Given the description of an element on the screen output the (x, y) to click on. 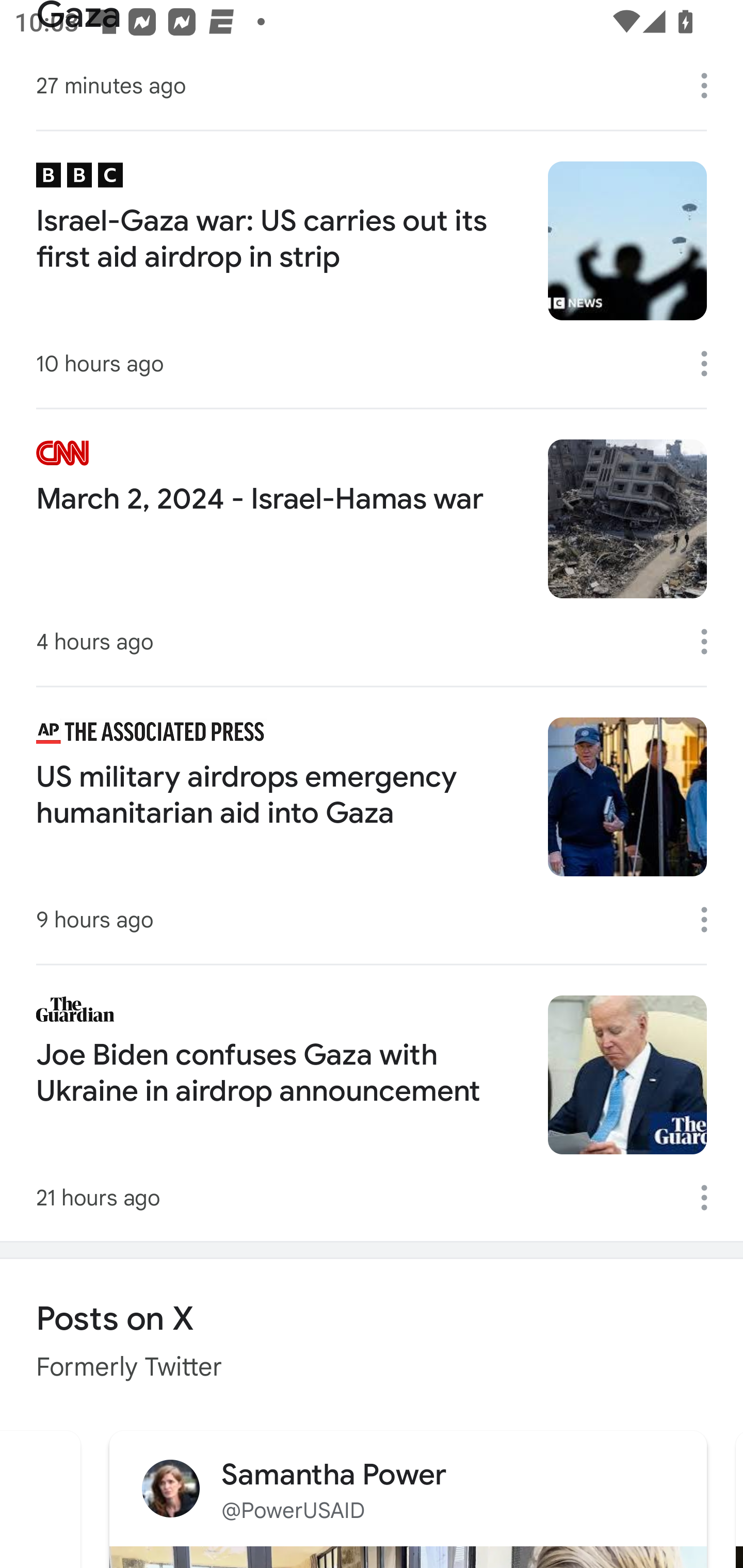
More options (711, 85)
More options (711, 363)
More options (711, 641)
More options (711, 919)
More options (711, 1197)
Samantha Power @PowerUSAID Video included in post (408, 1496)
